Given the description of an element on the screen output the (x, y) to click on. 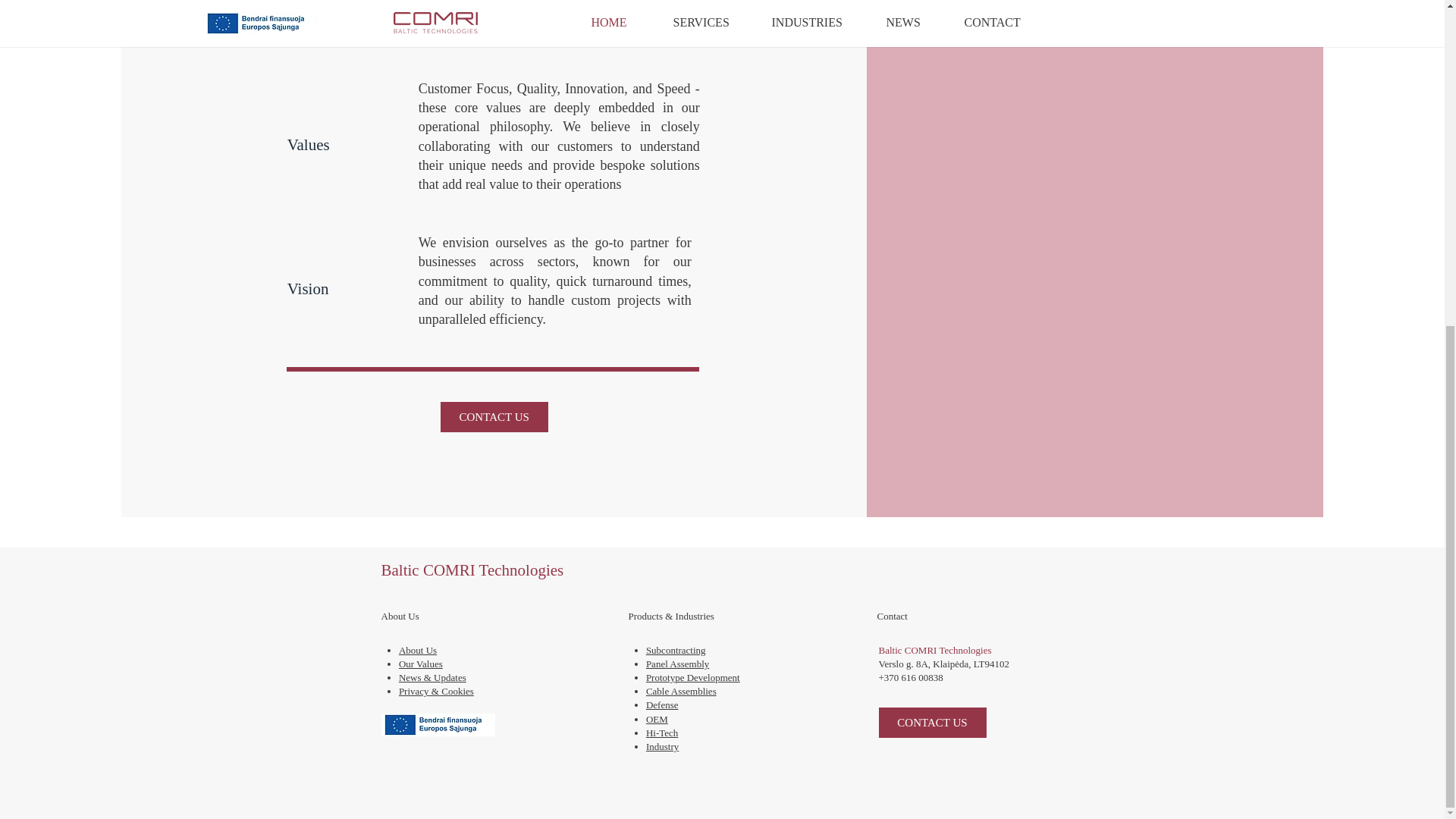
Hi-Tech (662, 732)
OEM (657, 718)
Industry (662, 746)
Our Values (420, 663)
Prototype Development (692, 677)
Subcontracting (676, 650)
Cable Assemblies (681, 690)
CONTACT US (931, 722)
Panel Assembly (677, 663)
About Us (417, 650)
CONTACT US (494, 417)
Defense (662, 704)
